Given the description of an element on the screen output the (x, y) to click on. 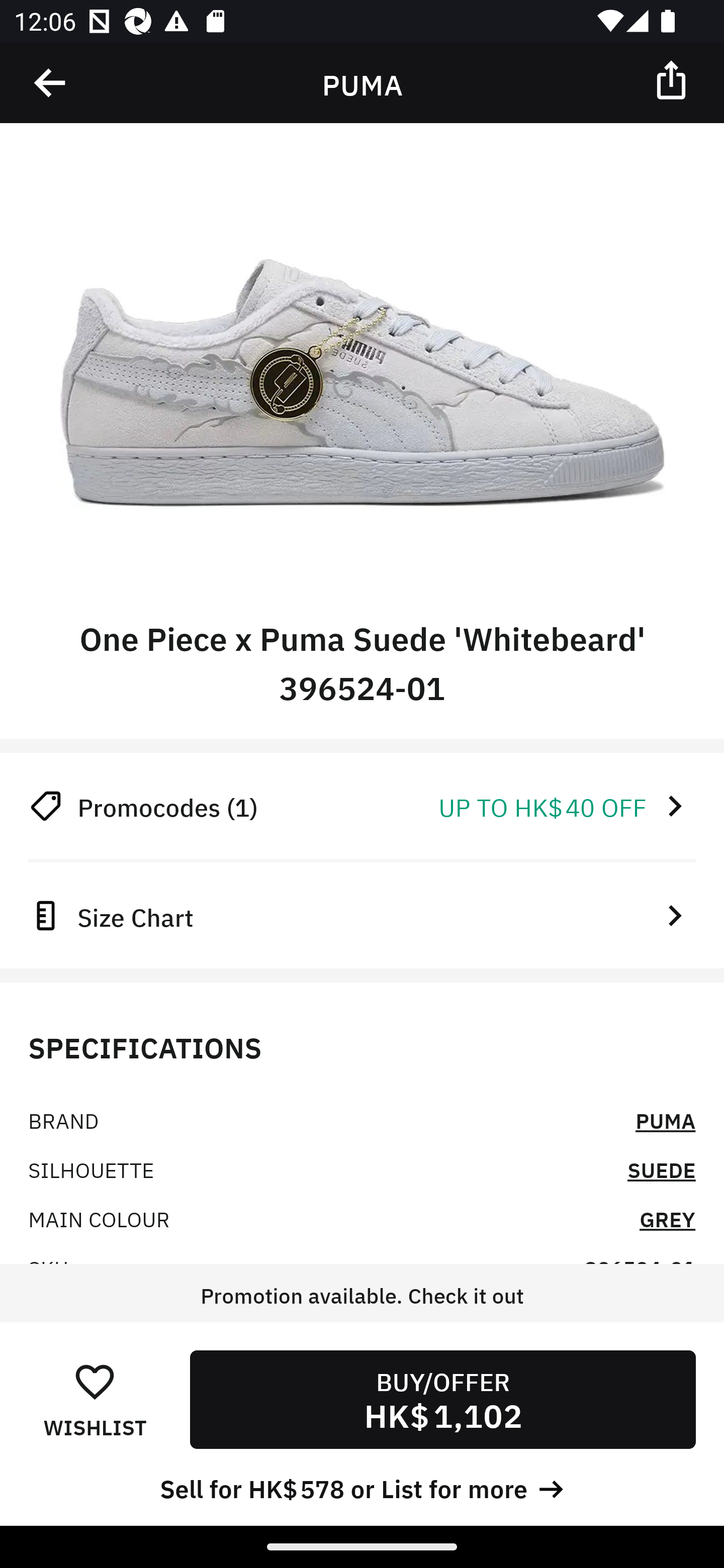
 (50, 83)
 (672, 79)
Promocodes (1) UP TO HK$ 40 OFF  (361, 805)
Size Chart  (361, 914)
PUMA (665, 1119)
SUEDE (661, 1168)
GREY (667, 1218)
BUY/OFFER HK$ 1,102 (442, 1399)
󰋕 (94, 1380)
Sell for HK$ 578 or List for more (361, 1486)
